Given the description of an element on the screen output the (x, y) to click on. 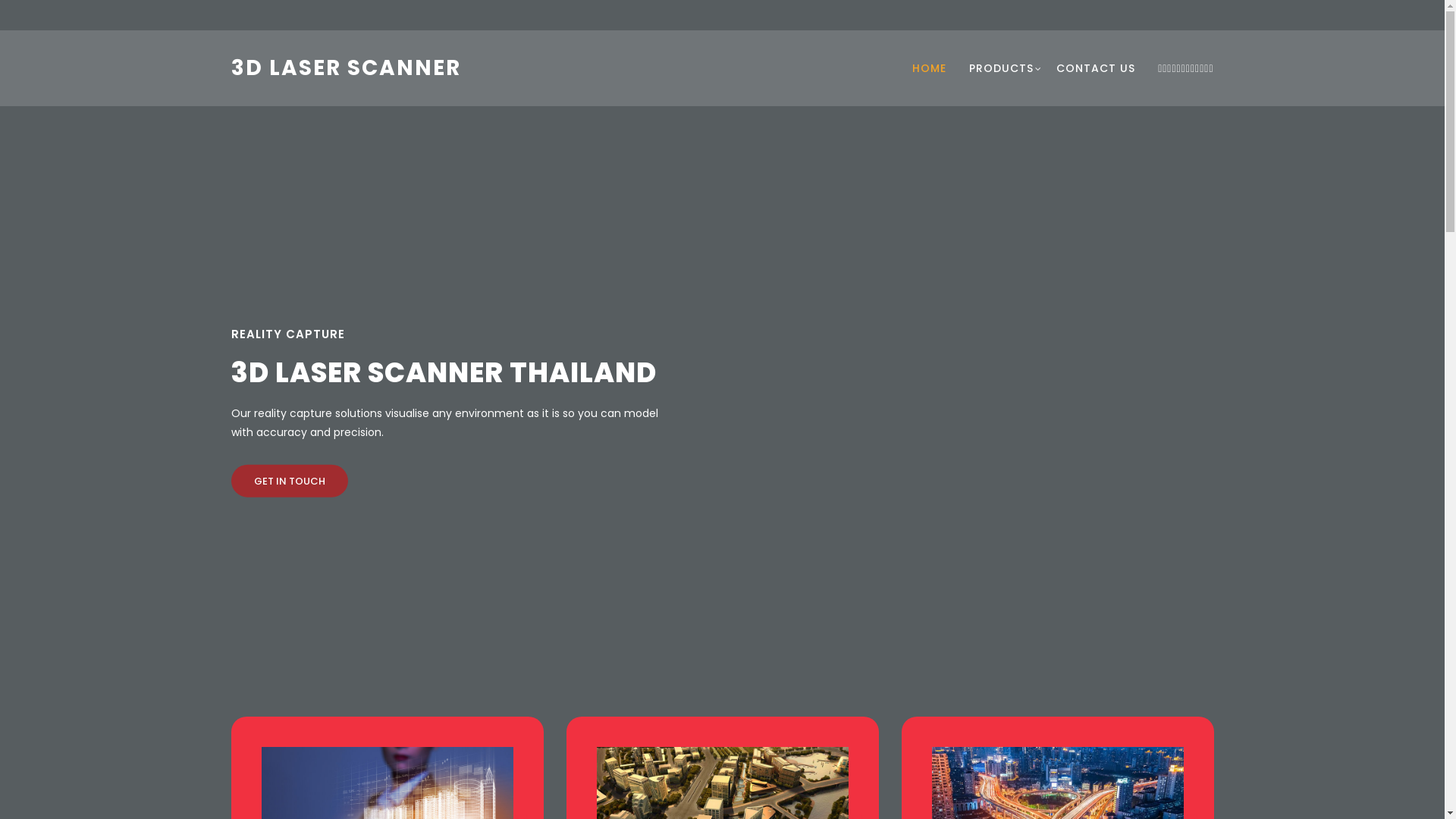
GET IN TOUCH Element type: text (288, 480)
CONTACT US Element type: text (1095, 68)
3D LASER SCANNER Element type: text (345, 68)
PRODUCTS Element type: text (1001, 68)
HOME Element type: text (929, 68)
